Given the description of an element on the screen output the (x, y) to click on. 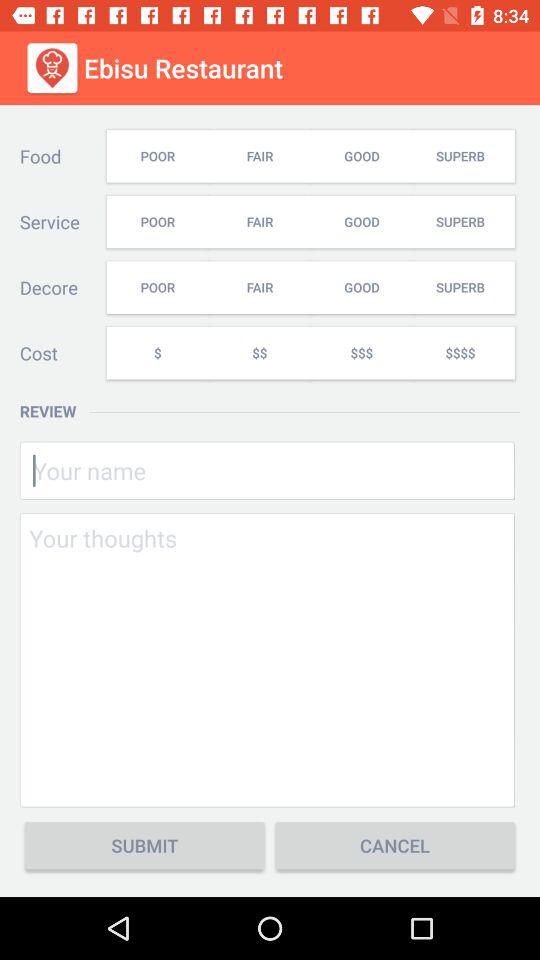
select $$$$ (463, 352)
